Given the description of an element on the screen output the (x, y) to click on. 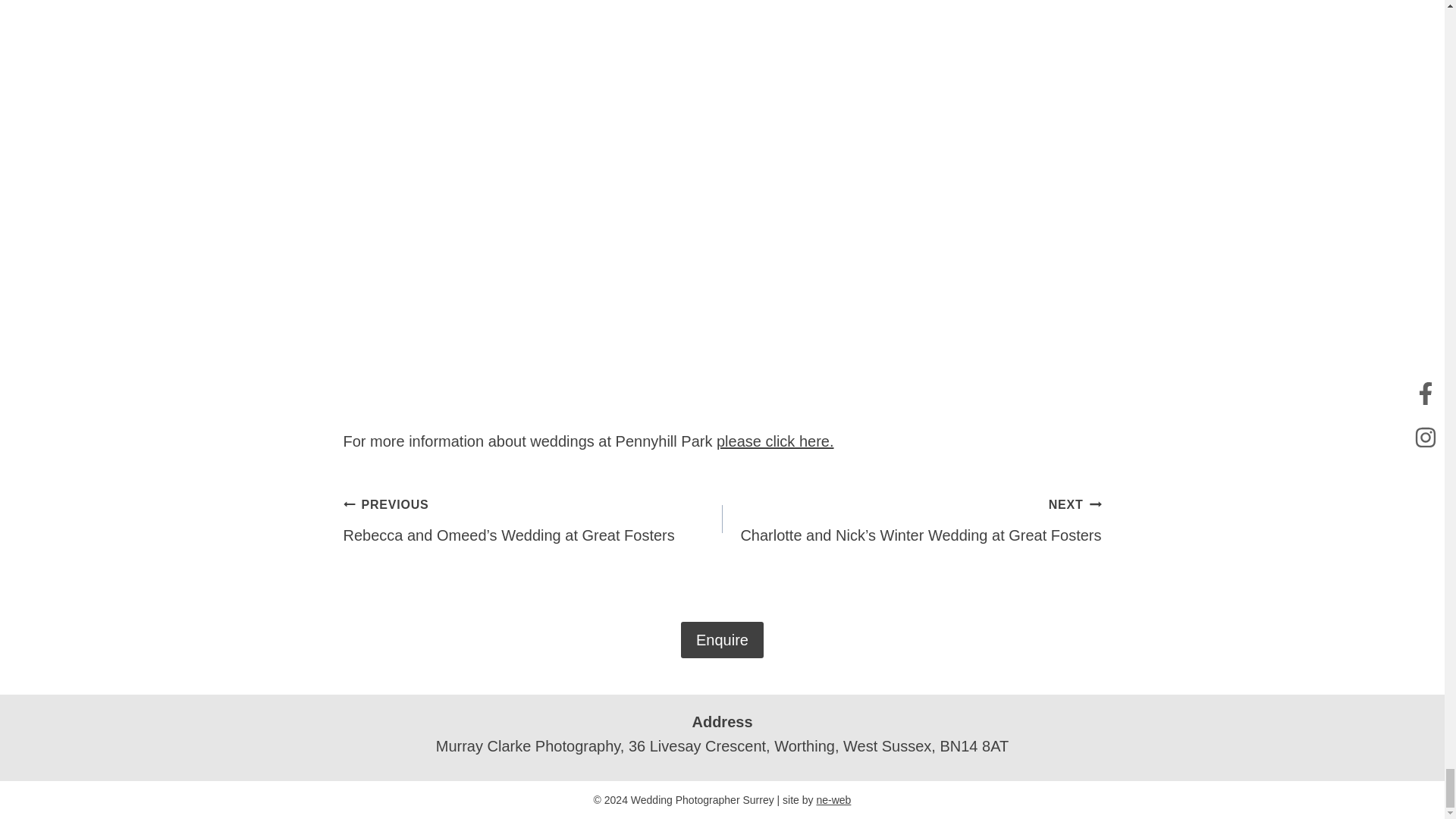
Enquire (721, 639)
ne-web (832, 799)
please click here. (775, 441)
